Given the description of an element on the screen output the (x, y) to click on. 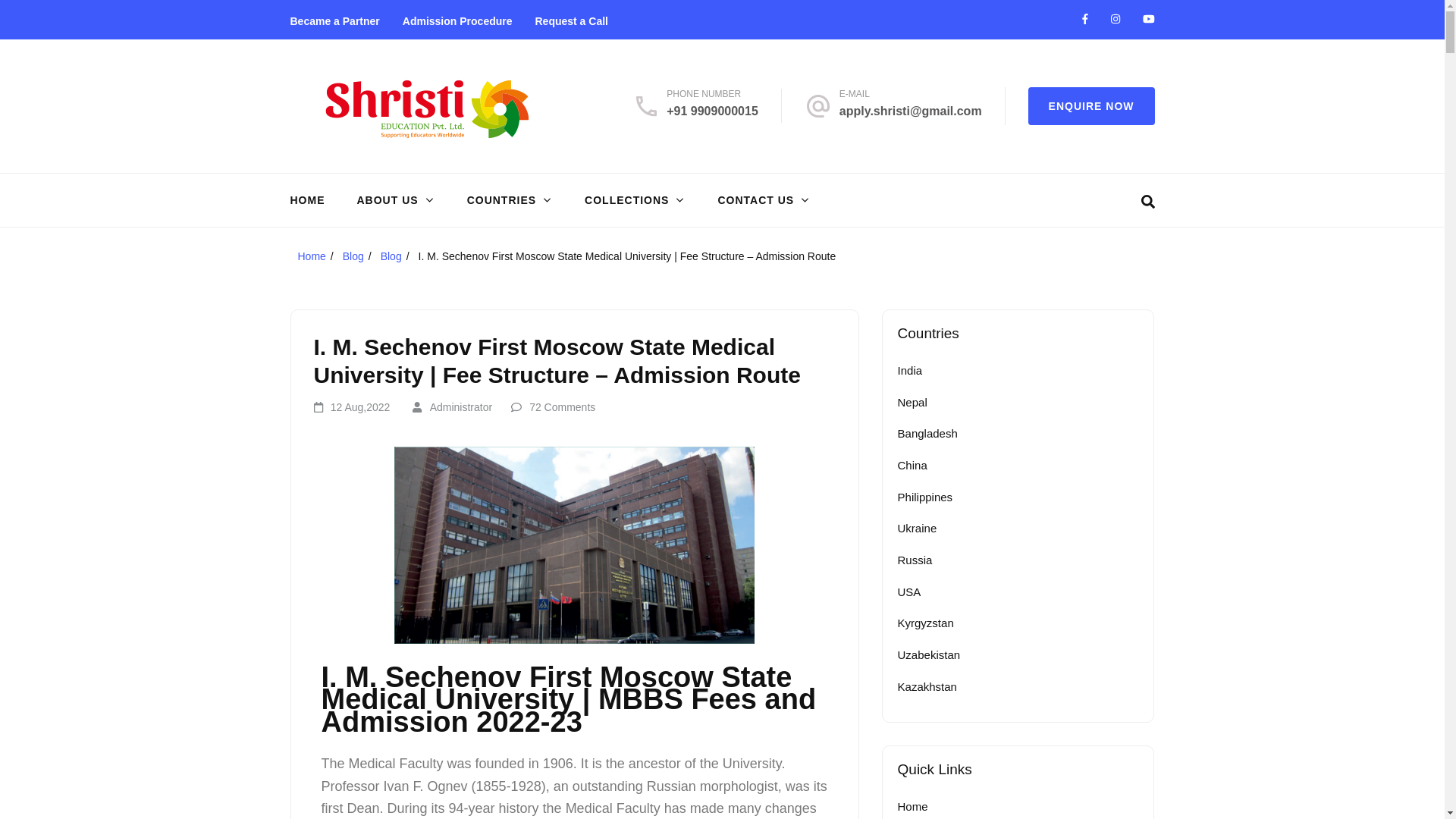
YouTube (1148, 19)
